Given the description of an element on the screen output the (x, y) to click on. 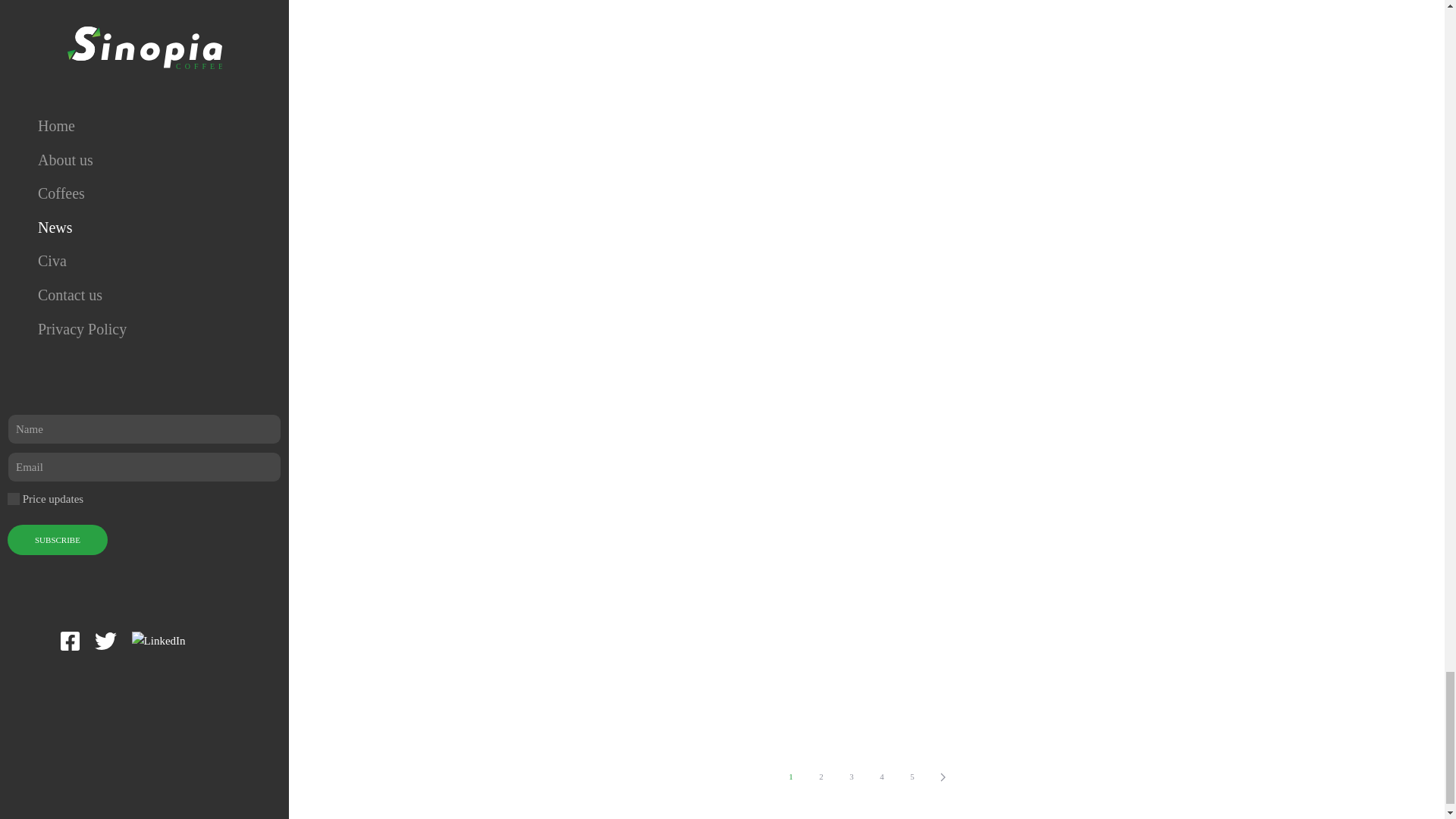
Next (942, 776)
